Given the description of an element on the screen output the (x, y) to click on. 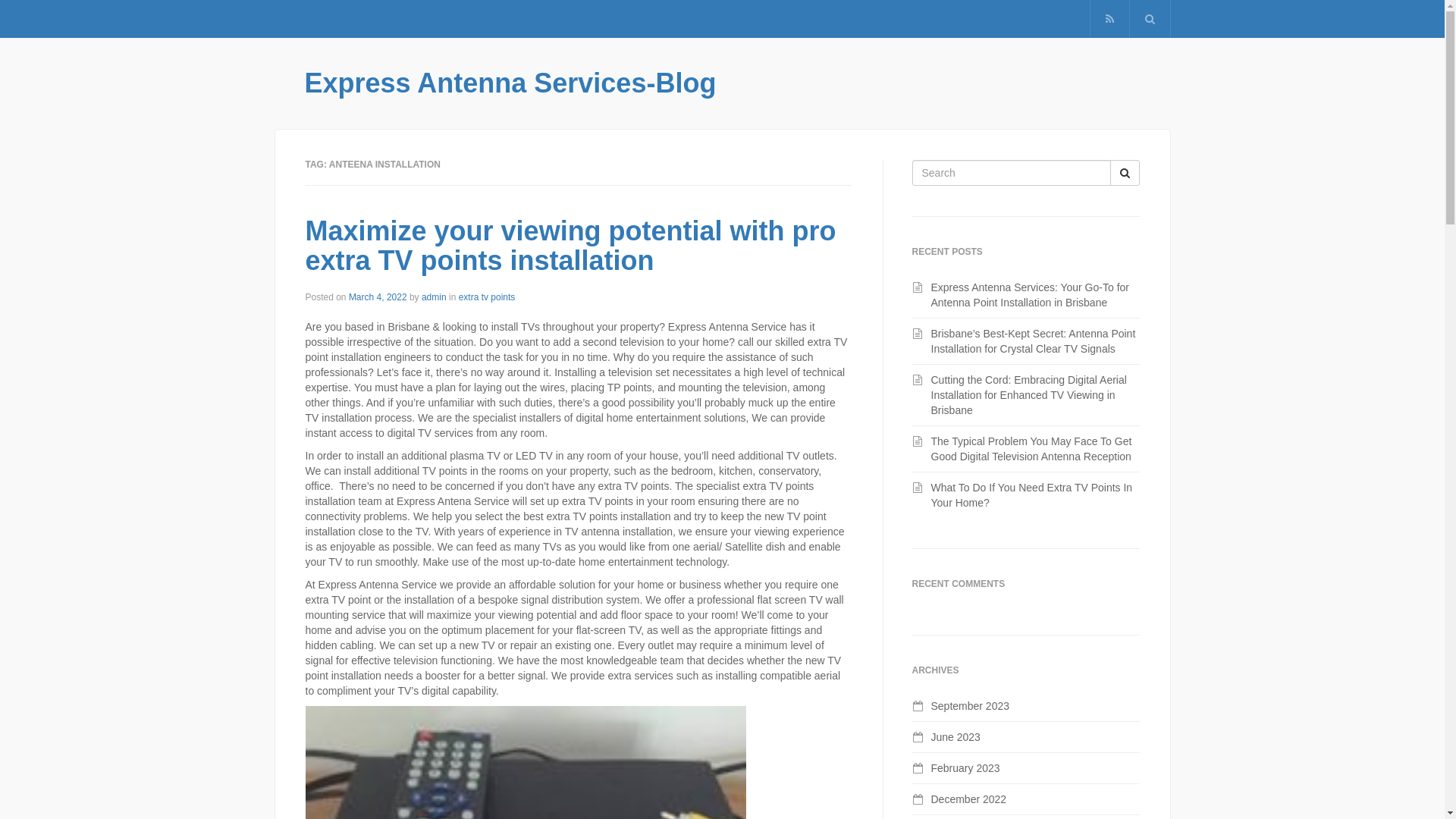
February 2023 Element type: text (965, 768)
admin Element type: text (433, 296)
extra tv points Element type: text (486, 296)
June 2023 Element type: text (955, 737)
What To Do If You Need Extra TV Points In Your Home? Element type: text (1031, 494)
September 2023 Element type: text (970, 705)
December 2022 Element type: text (969, 799)
Express Antenna Services-Blog Element type: text (510, 82)
March 4, 2022
April 25, 2023 Element type: text (377, 296)
